Given the description of an element on the screen output the (x, y) to click on. 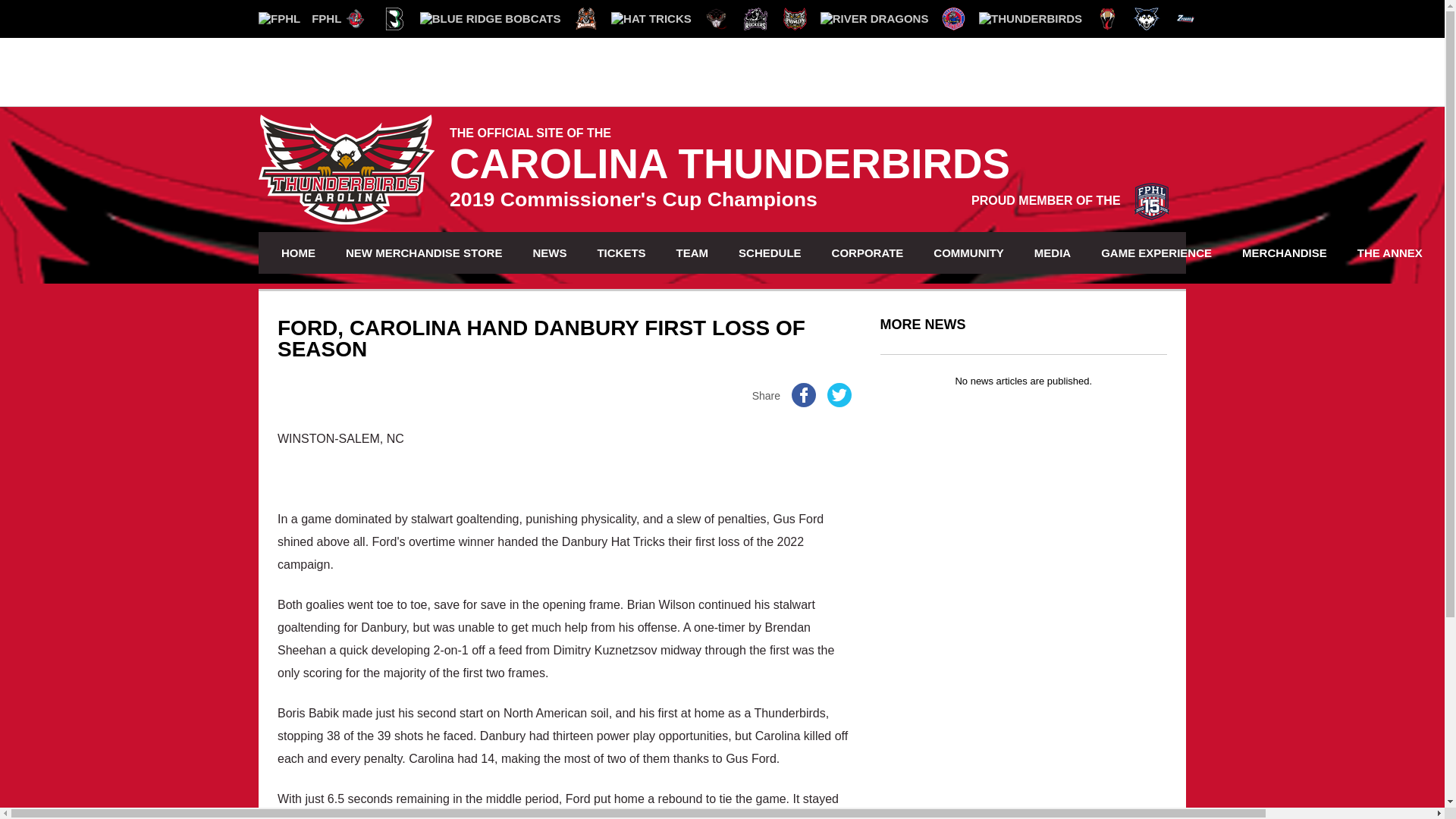
NEW MERCHANDISE STORE (423, 252)
FPHL (299, 18)
HOME (297, 252)
PROUD MEMBER OF THE (1070, 200)
NEWS (549, 252)
